Given the description of an element on the screen output the (x, y) to click on. 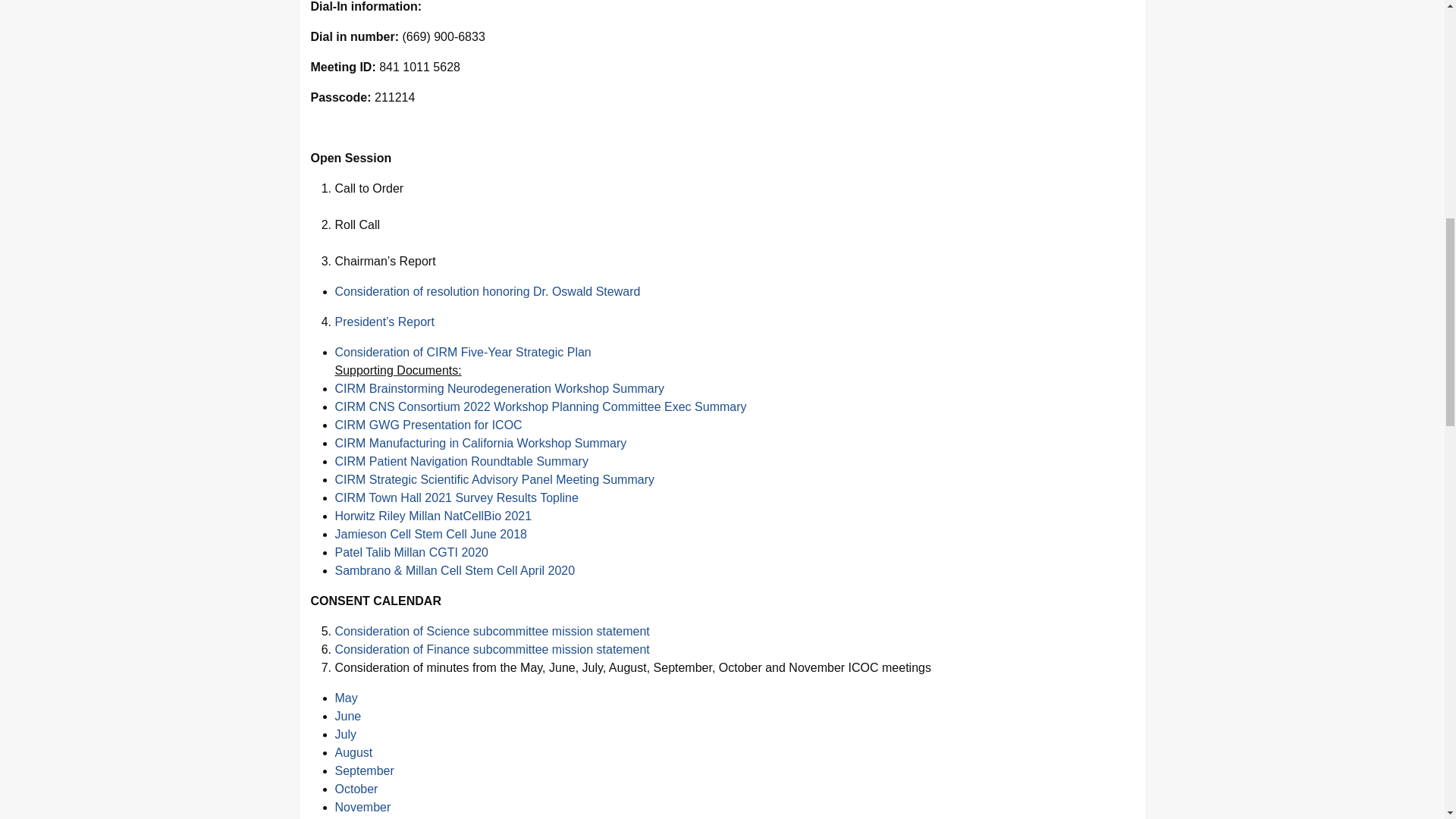
June (347, 716)
Consideration of resolution honoring Dr. Oswald Steward (487, 291)
July (345, 734)
Consideration of Finance subcommittee mission statement (491, 649)
CIRM GWG Presentation for ICOC (428, 424)
May (346, 697)
President's Report (383, 321)
CIRM Strategic Scientific Advisory Panel Meeting Summary (493, 479)
CIRM Brainstorming Neurodegeneration Workshop Summary (499, 388)
Patel Talib Millan CGTI 2020 (410, 552)
CIRM Manufacturing in California Workshop Summary (480, 442)
CIRM Patient Navigation Roundtable Summary (461, 461)
Consideration of CIRM Five-Year Strategic Plan (462, 351)
